Given the description of an element on the screen output the (x, y) to click on. 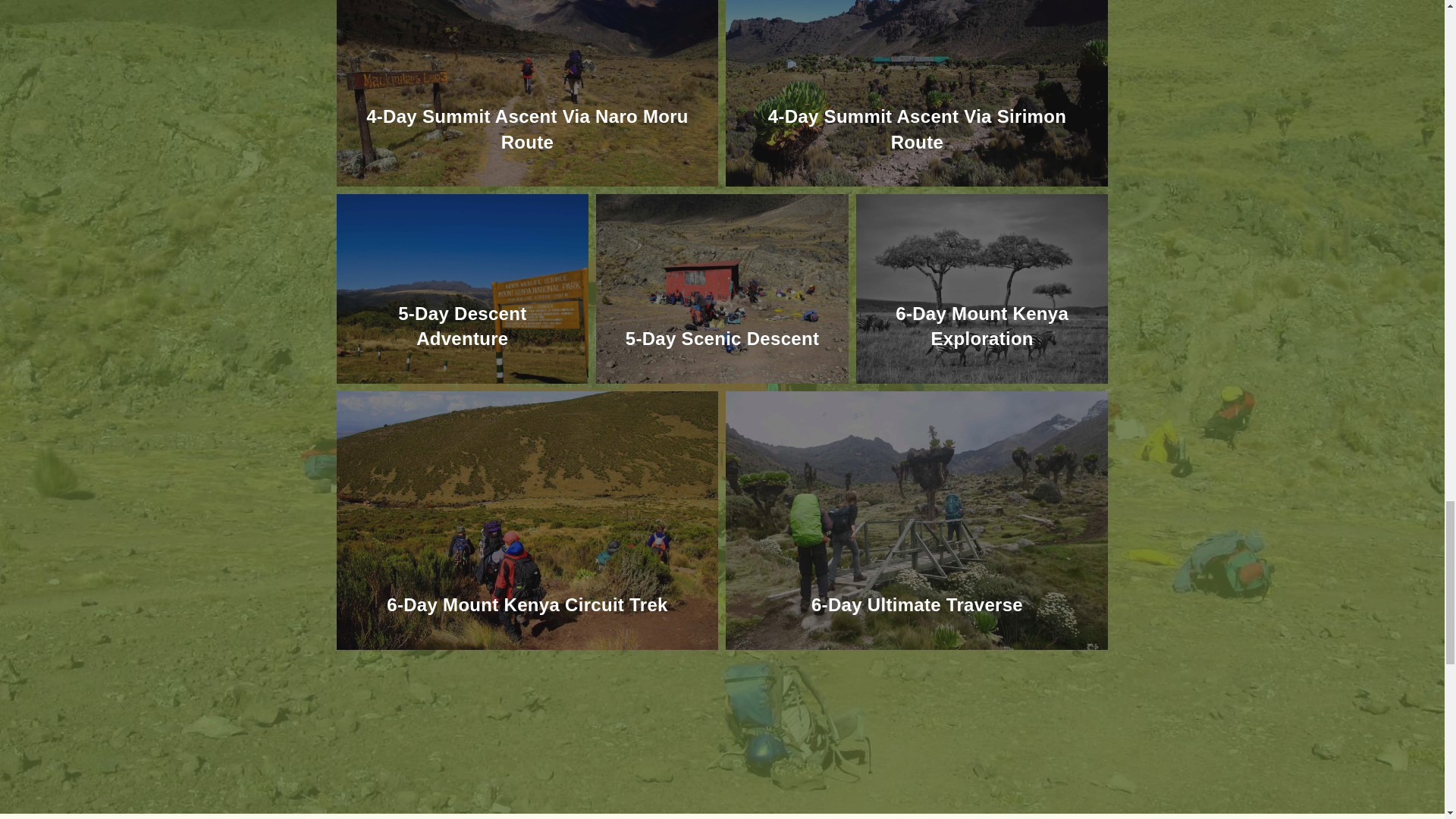
6-Day Ultimate Traverse (916, 604)
6-Day Mount Kenya Circuit Trek (526, 604)
4-Day Summit Ascent via Sirimon Route (916, 129)
5-Day Descent Adventure (461, 326)
4-Day Summit Ascent via Naro Moru Route (527, 129)
6-Day Mount Kenya Exploration (981, 326)
5-Day Scenic Descent (722, 338)
